Given the description of an element on the screen output the (x, y) to click on. 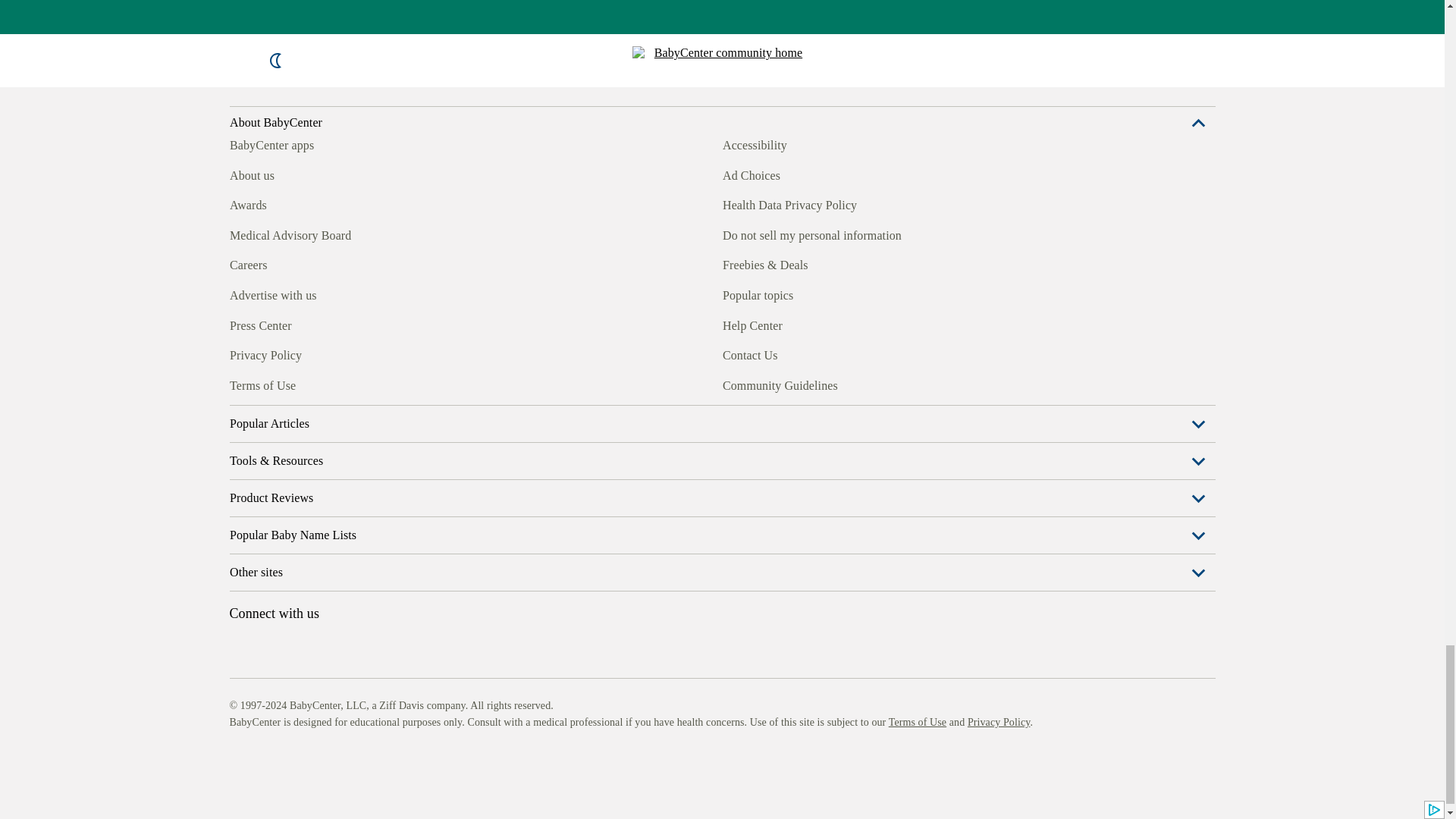
BabyCenter Twitter feed (379, 422)
BabyCenter Instagram feed (274, 422)
BabyCenter Facebook page (239, 422)
BabyCenter YouTube channel (344, 422)
BabyCenter Pinterest board (309, 422)
